Given the description of an element on the screen output the (x, y) to click on. 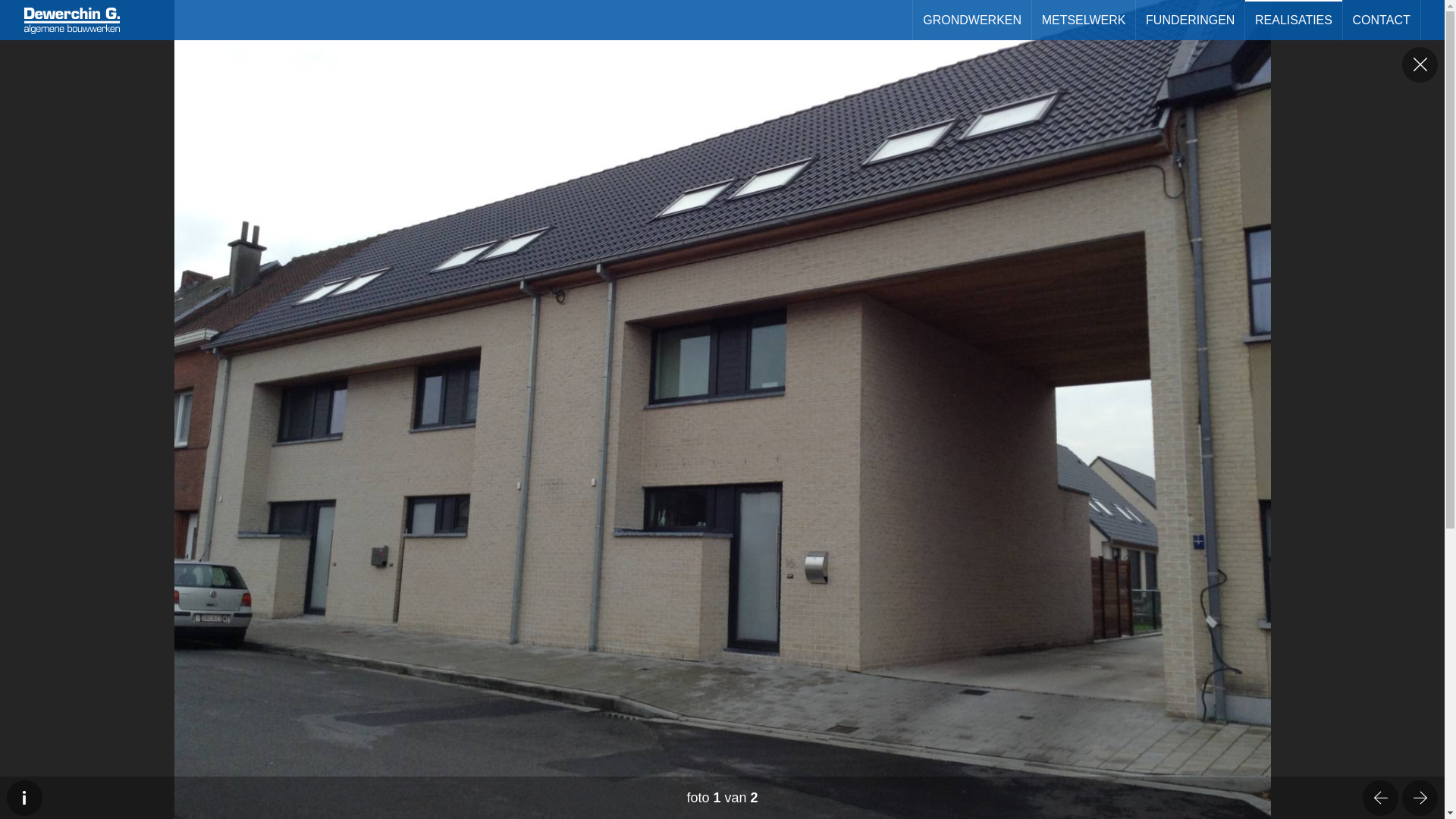
Dewerchin G. - algemene bouwwerken Element type: hover (71, 20)
previous Element type: hover (1380, 797)
More info about this project Element type: hover (24, 797)
FUNDERINGEN Element type: text (1189, 20)
next Element type: hover (1420, 797)
CONTACT Element type: text (1381, 20)
REALISATIES Element type: text (1293, 20)
go back Element type: hover (1420, 64)
GRONDWERKEN Element type: text (971, 20)
METSELWERK Element type: text (1083, 20)
